Given the description of an element on the screen output the (x, y) to click on. 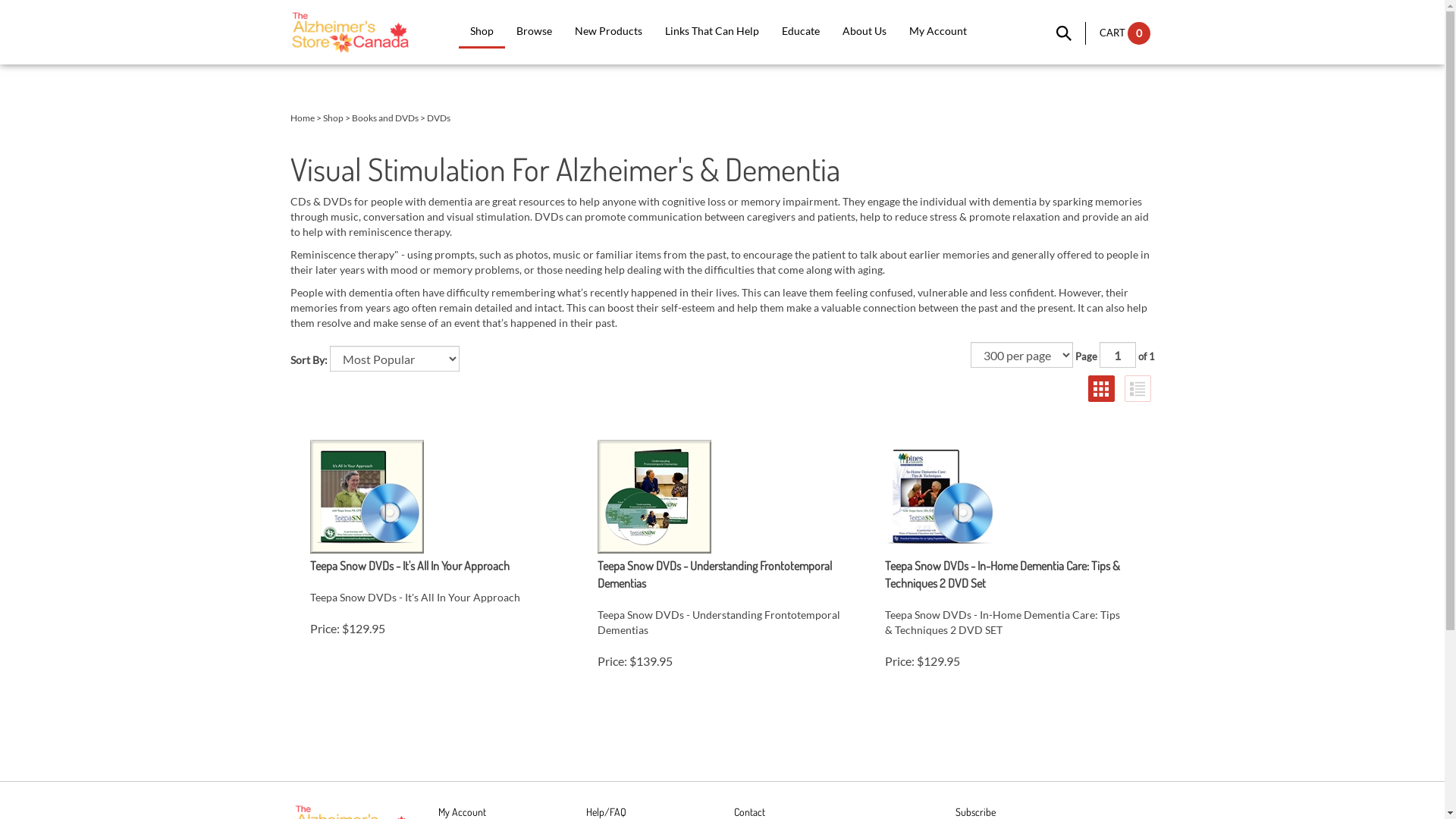
Teepa-Snow-DVDs-It's-All-In-Your-Approach Element type: hover (366, 496)
Books and DVDs Element type: text (384, 117)
www.alzstore.ca Element type: hover (348, 32)
Go to page Element type: hover (1117, 354)
My Account Element type: text (462, 811)
Browse Element type: text (534, 31)
My Account Element type: text (937, 31)
DVDs Element type: text (437, 117)
Help/FAQ Element type: text (605, 811)
New Products Element type: text (608, 31)
Home Element type: text (301, 117)
Teepa-Snow-DVDs-It's-All-In-Your-Approach Element type: hover (430, 496)
Links That Can Help Element type: text (711, 31)
Teepa-Snow-DVDs-Understanding-Frontotemporal-Dementias Element type: hover (718, 496)
Teepa-Snow-DVDs-In-Home-Dementia-Care-Tips-Techniques Element type: hover (940, 496)
Educate Element type: text (800, 31)
Shop Element type: text (333, 117)
Shop Element type: text (481, 31)
CART
0 Element type: text (1124, 32)
Teepa-Snow-DVDs-Understanding-Frontotemporal-Dementias Element type: hover (654, 496)
Teepa Snow DVDs - It's All In Your Approach Element type: text (408, 565)
Teepa-Snow-DVDs-In-Home-Dementia-Care-Tips-Techniques Element type: hover (1005, 496)
Teepa Snow DVDs - Understanding Frontotemporal Dementias Element type: text (718, 574)
About Us Element type: text (864, 31)
